Given the description of an element on the screen output the (x, y) to click on. 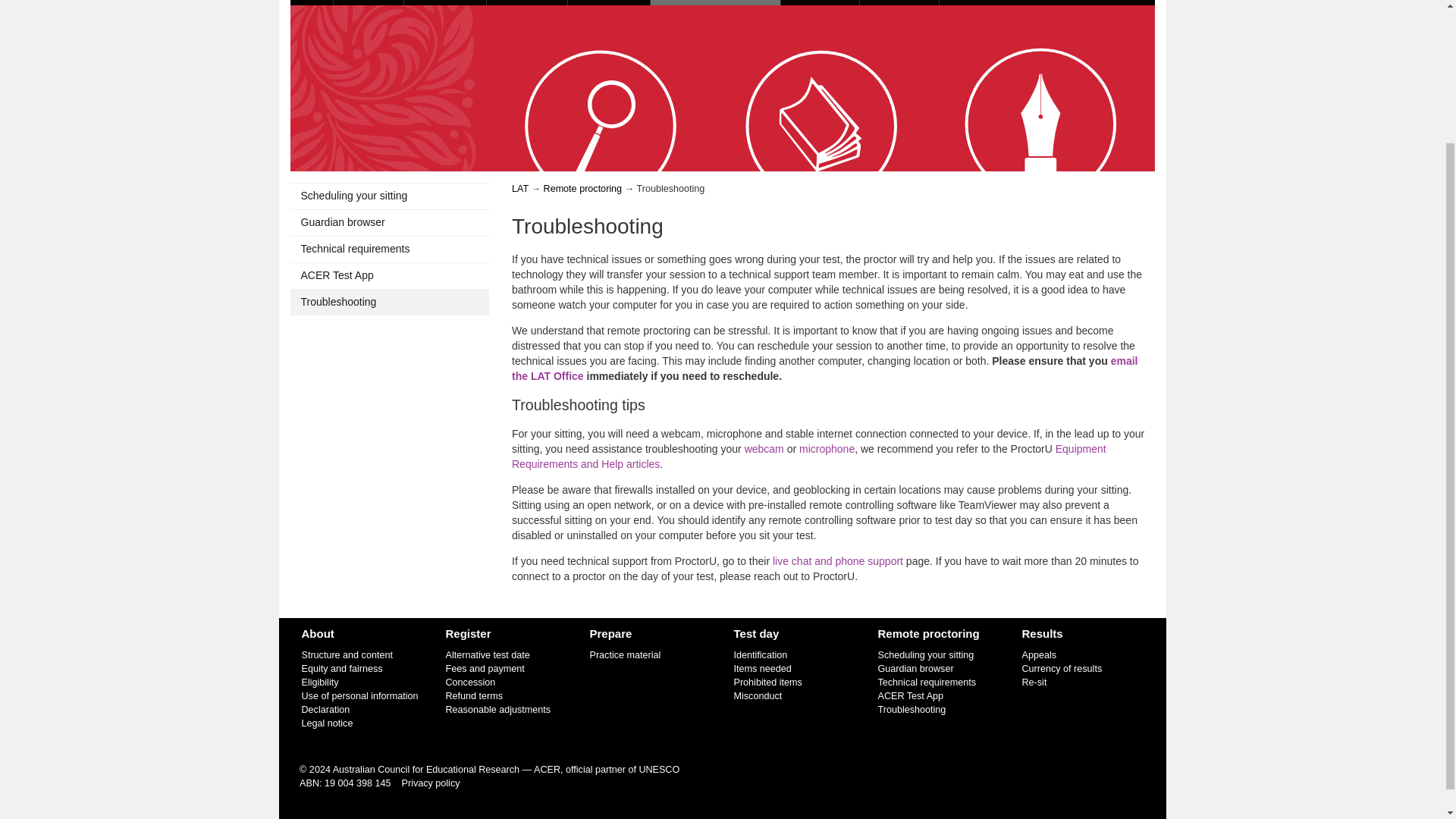
Remote proctoring (583, 188)
Remote proctoring (715, 2)
Declaration (325, 709)
Technical requirements (389, 249)
Privacy Policy (430, 783)
Register (445, 2)
About (368, 2)
Scheduling your sitting (389, 196)
webcam (764, 449)
About (317, 633)
Guardian browser (389, 222)
Prepare (526, 2)
Test day (608, 2)
microphone (826, 449)
Use of personal information (360, 696)
